Given the description of an element on the screen output the (x, y) to click on. 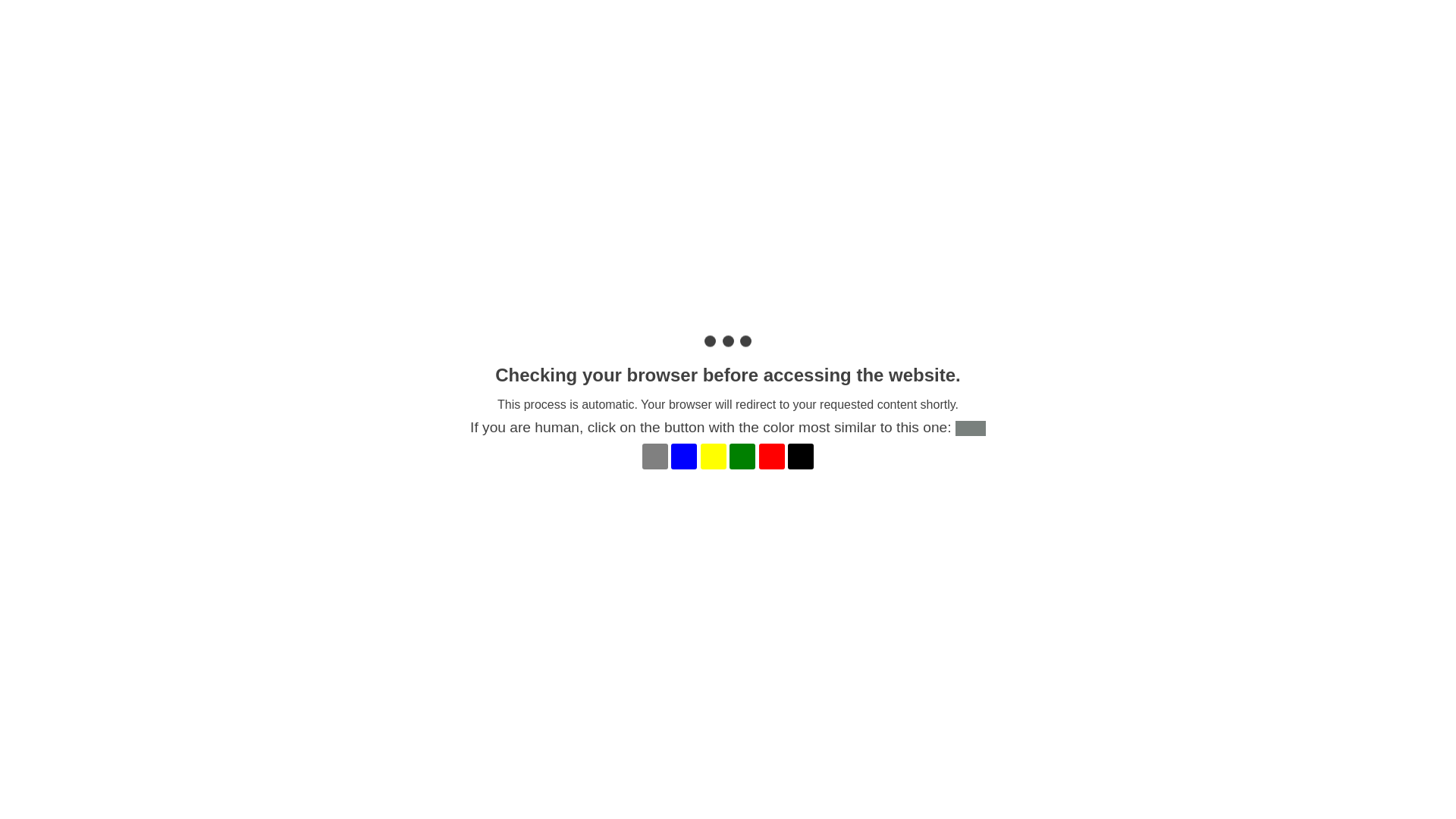
BLACK Element type: text (800, 456)
RED Element type: text (771, 456)
BLACK Element type: hover (800, 456)
GRAY Element type: hover (655, 456)
GRAY Element type: text (655, 456)
GREEN Element type: text (742, 456)
BLUE Element type: text (683, 456)
YELLOW Element type: text (713, 456)
RED Element type: hover (771, 456)
BLUE Element type: hover (683, 456)
YELLOW Element type: hover (713, 456)
GREEN Element type: hover (742, 456)
